Given the description of an element on the screen output the (x, y) to click on. 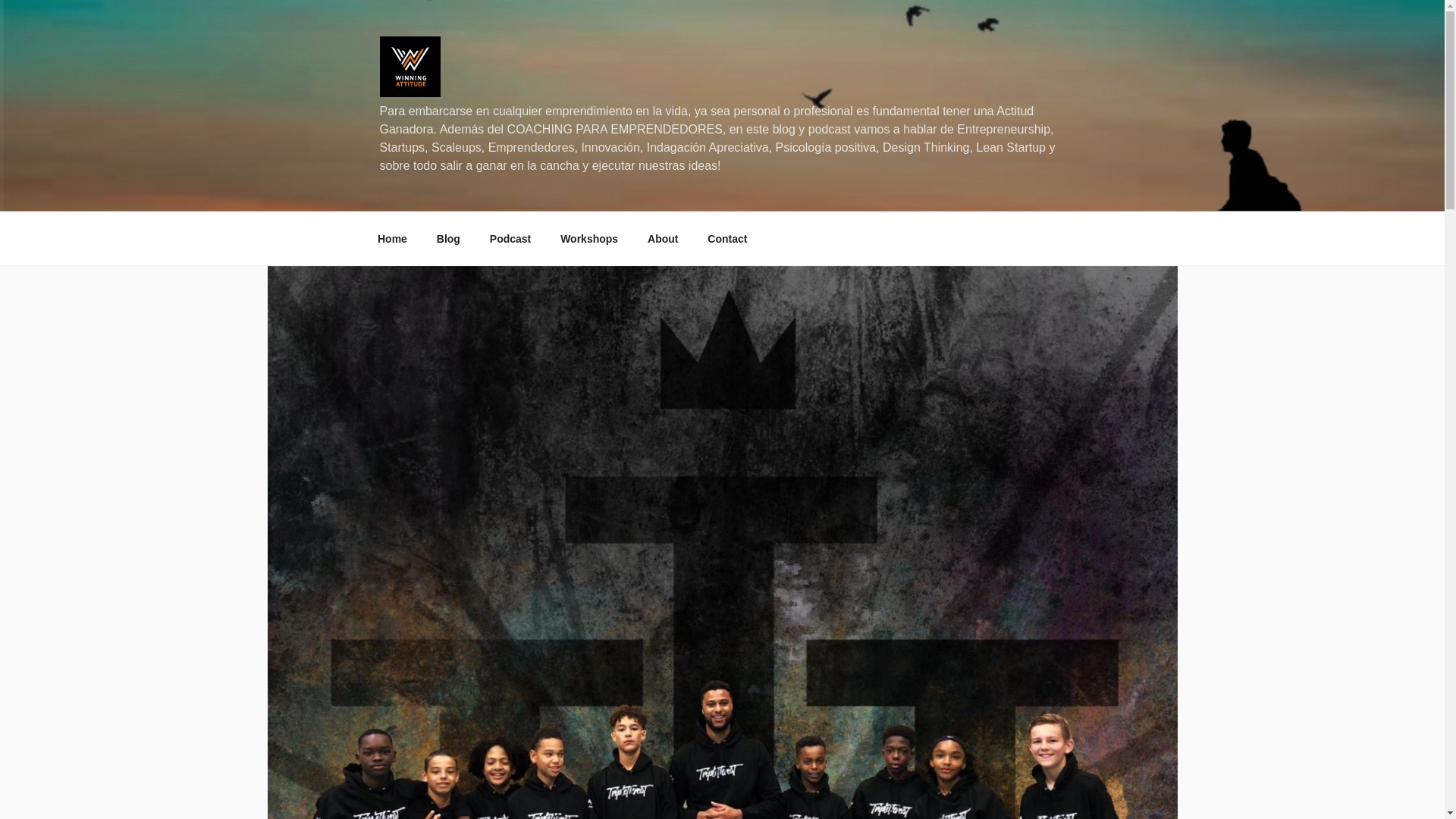
Home (392, 238)
About (662, 238)
Contact (727, 238)
Workshops (589, 238)
Blog (448, 238)
Podcast (509, 238)
